Given the description of an element on the screen output the (x, y) to click on. 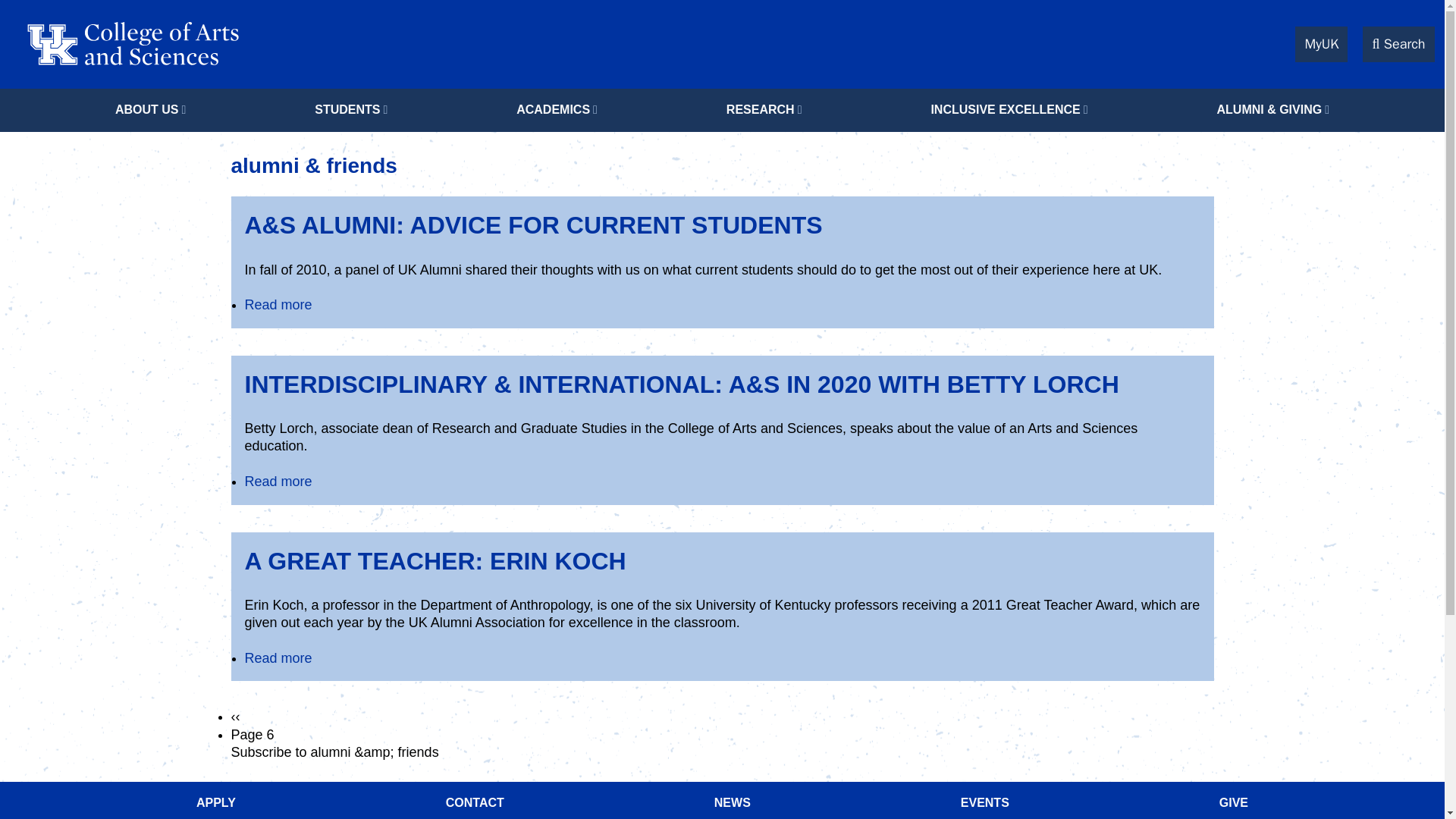
MyUK (1321, 44)
A Great Teacher: Erin Koch (277, 657)
 Search (1398, 44)
A GREAT TEACHER: ERIN KOCH (435, 560)
